Given the description of an element on the screen output the (x, y) to click on. 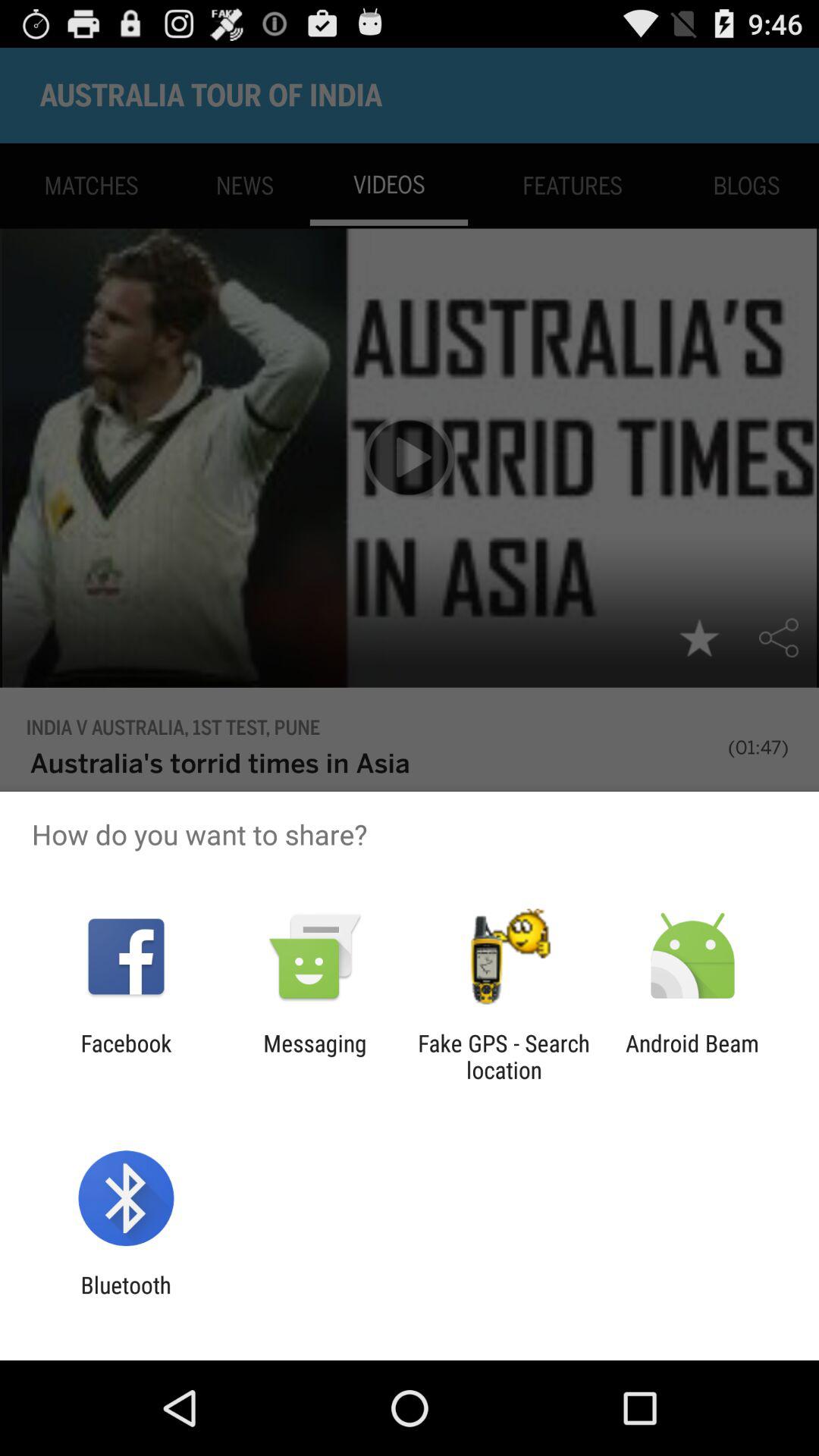
tap item to the right of the messaging app (503, 1056)
